Given the description of an element on the screen output the (x, y) to click on. 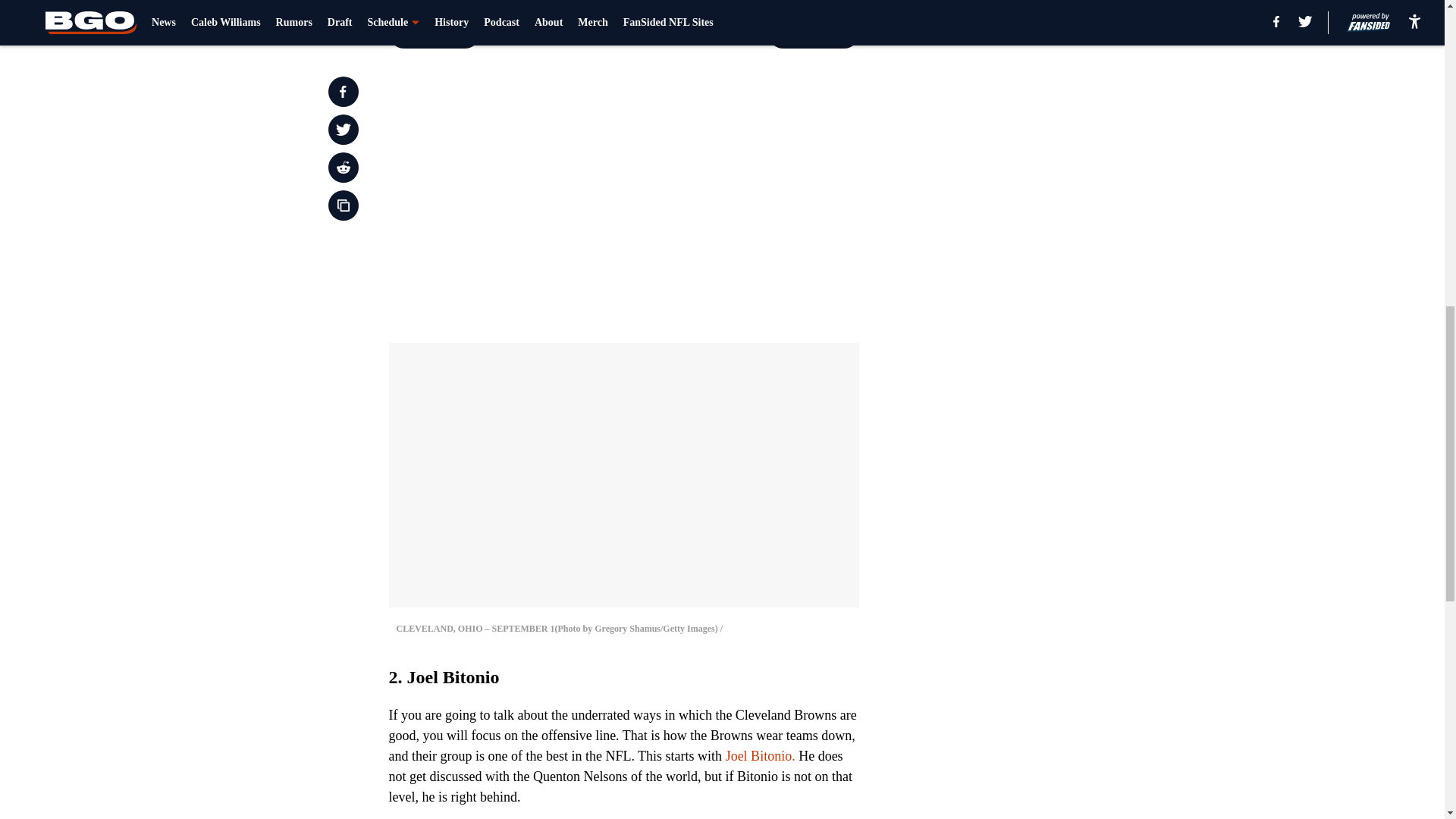
Joel Bitonio. (759, 755)
Next (813, 33)
Prev (433, 33)
